Given the description of an element on the screen output the (x, y) to click on. 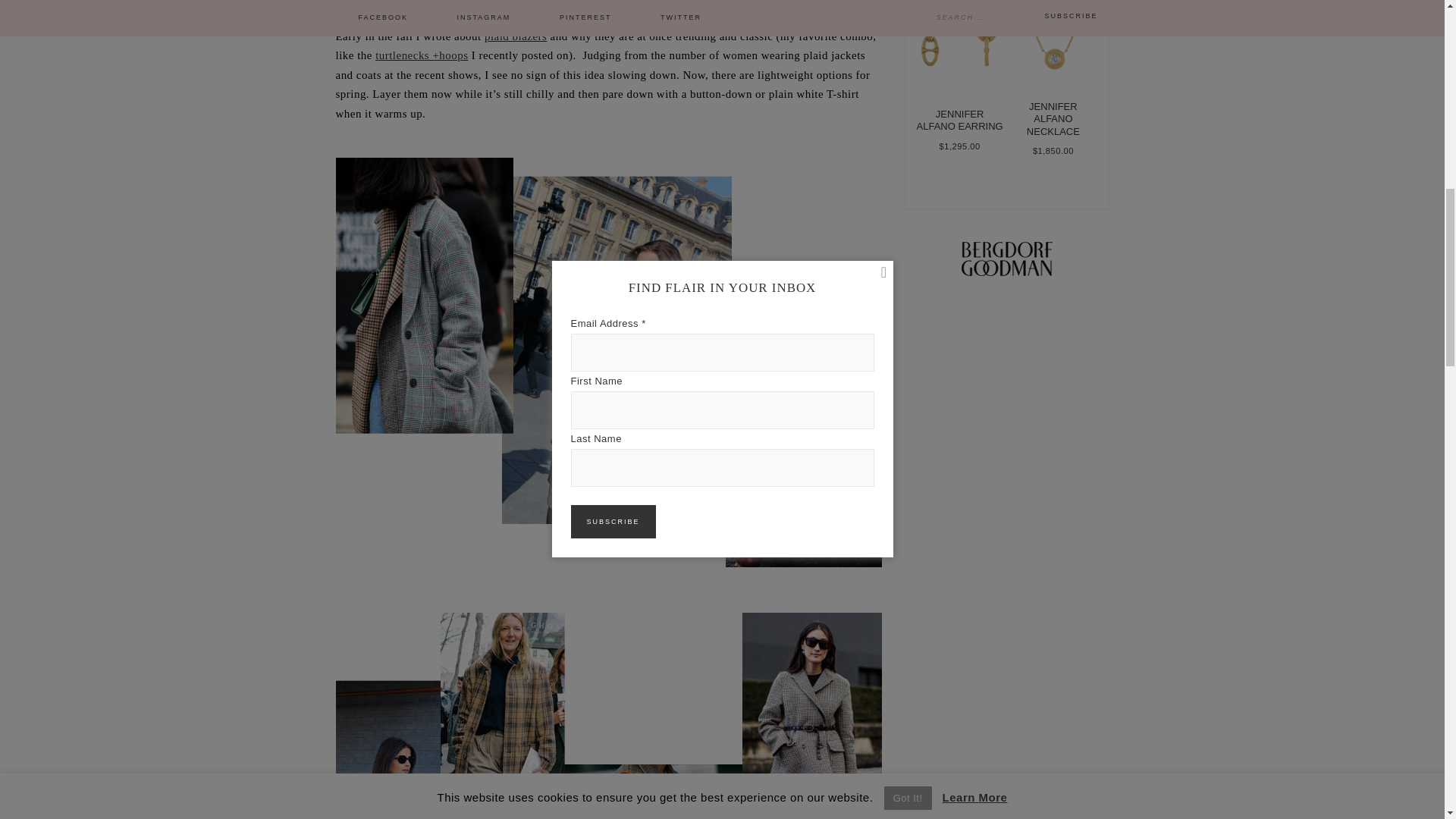
plaid blazers (515, 36)
